Given the description of an element on the screen output the (x, y) to click on. 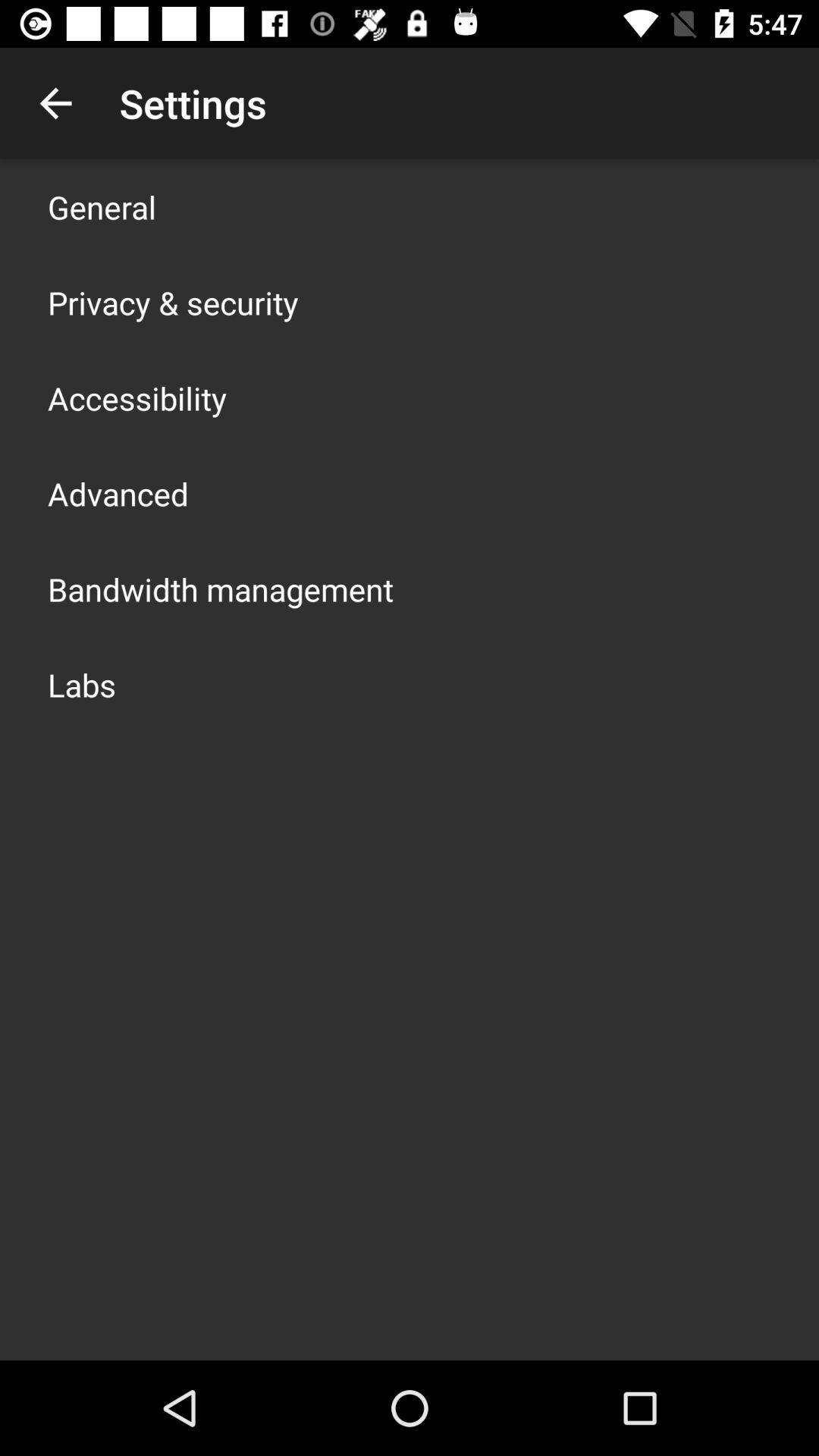
choose app above privacy & security icon (101, 206)
